Given the description of an element on the screen output the (x, y) to click on. 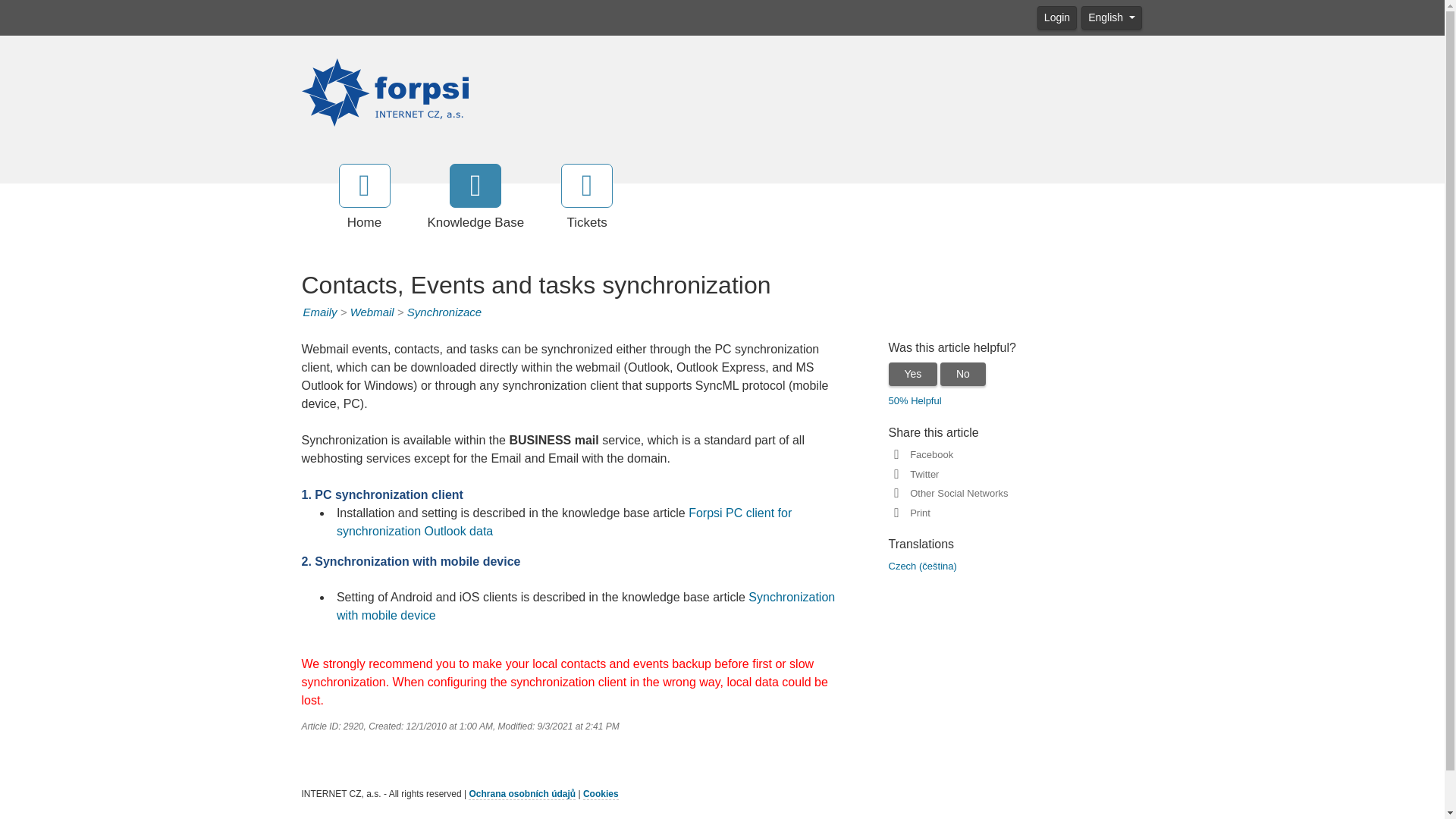
Synchronization with mobile device (585, 605)
Other Social Networks (955, 492)
Tickets (586, 197)
Facebook (928, 454)
Knowledge Base (476, 197)
Synchronizace (444, 311)
Cookies (600, 794)
No (962, 373)
English (1111, 17)
Print (917, 512)
